Given the description of an element on the screen output the (x, y) to click on. 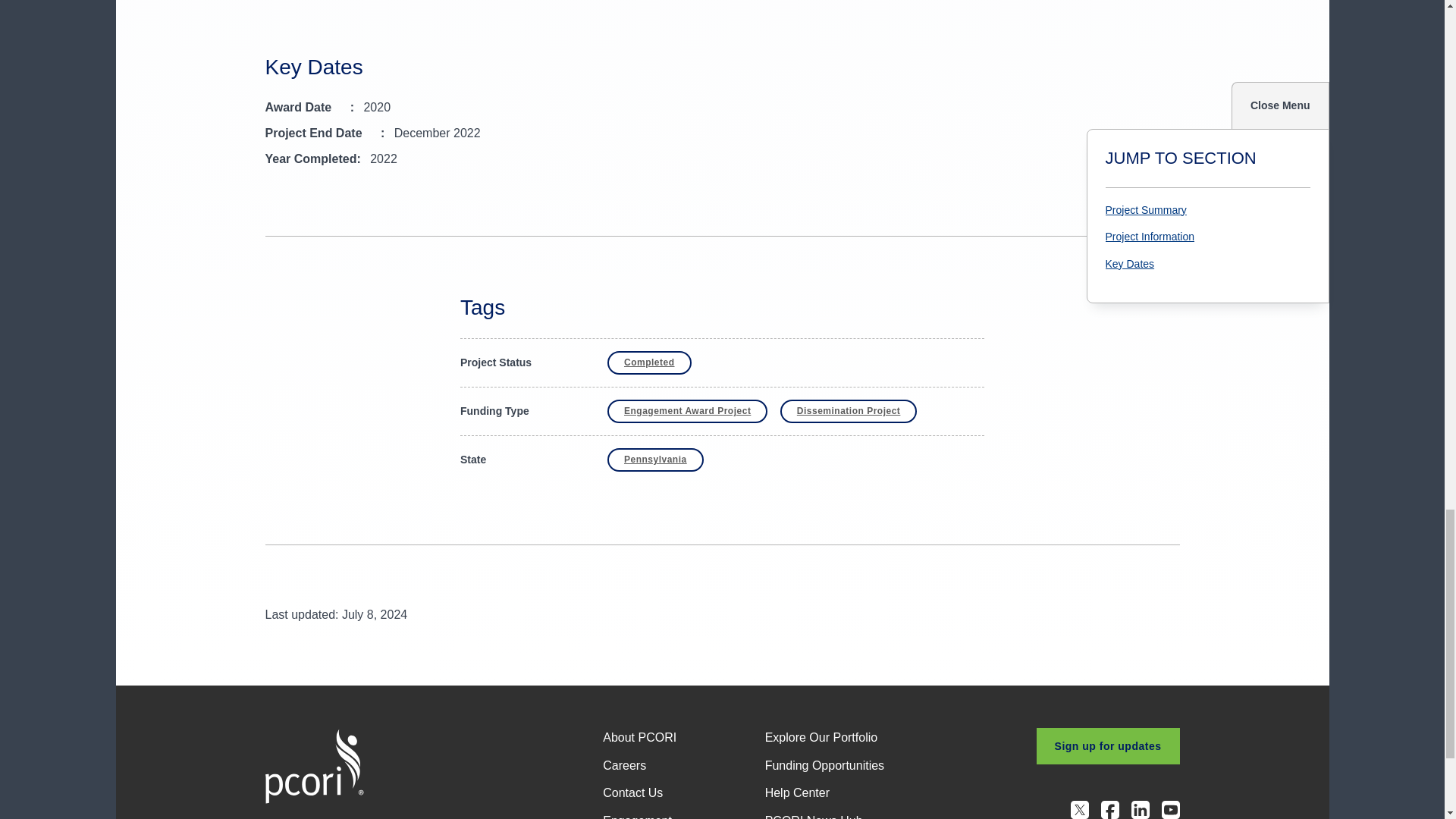
Home (314, 765)
